Given the description of an element on the screen output the (x, y) to click on. 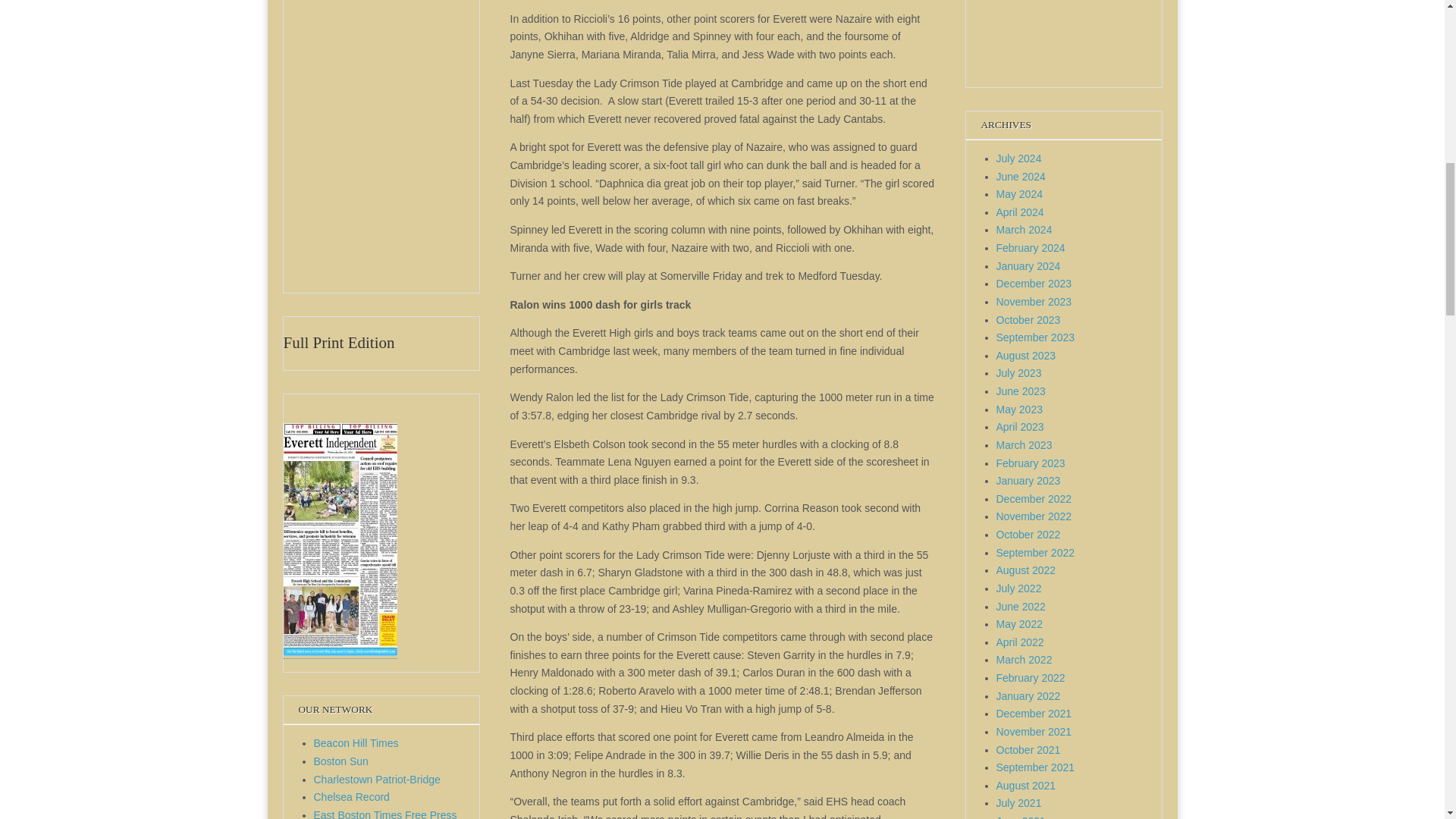
Chelsea Record (352, 797)
Boston Sun (341, 761)
East Boston Times Free Press (385, 814)
Charlestown Patriot-Bridge (377, 779)
Beacon Hill Times (356, 743)
